Given the description of an element on the screen output the (x, y) to click on. 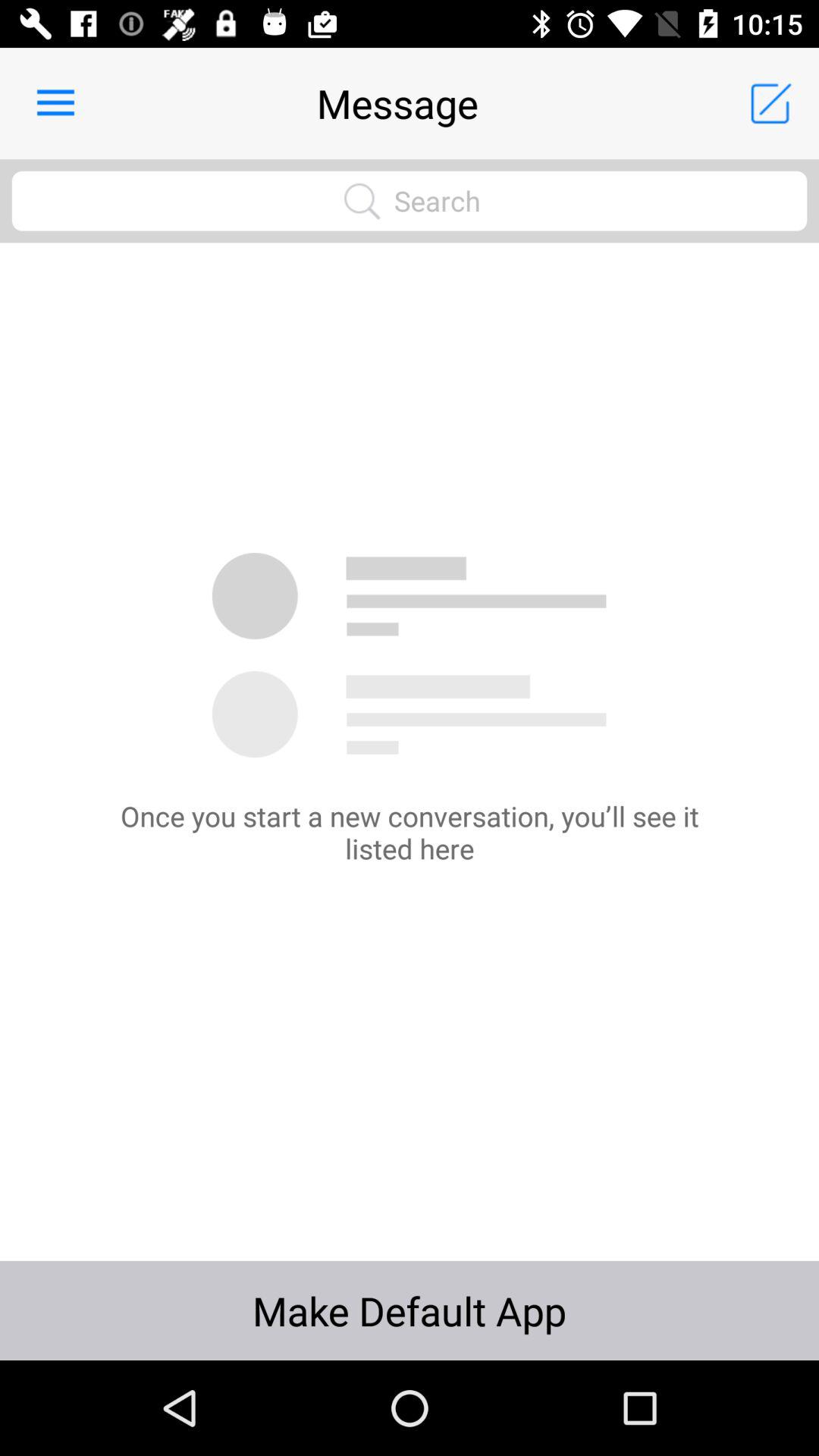
select the icon next to message app (55, 103)
